Given the description of an element on the screen output the (x, y) to click on. 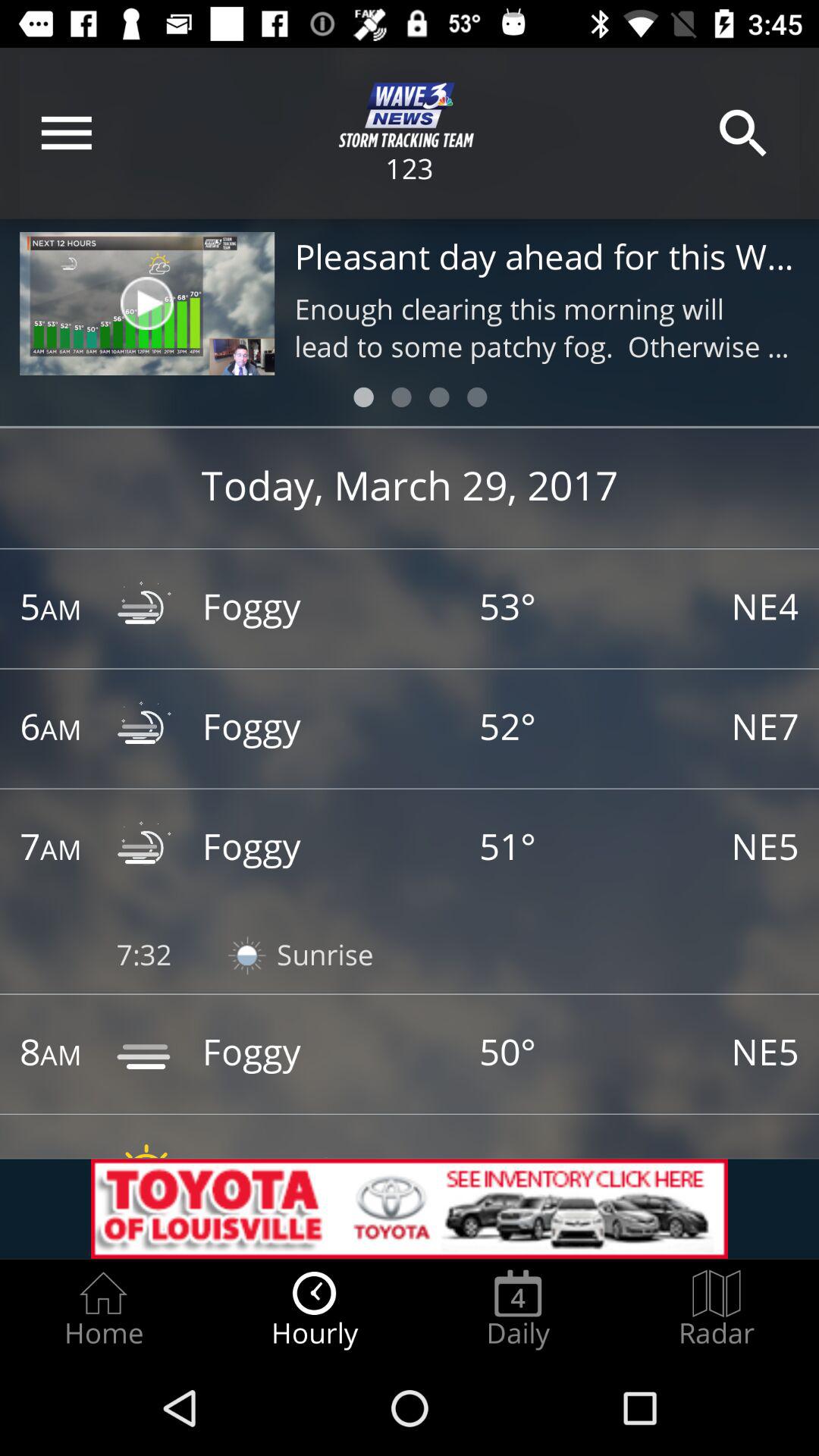
launch radio button next to the daily icon (716, 1309)
